Given the description of an element on the screen output the (x, y) to click on. 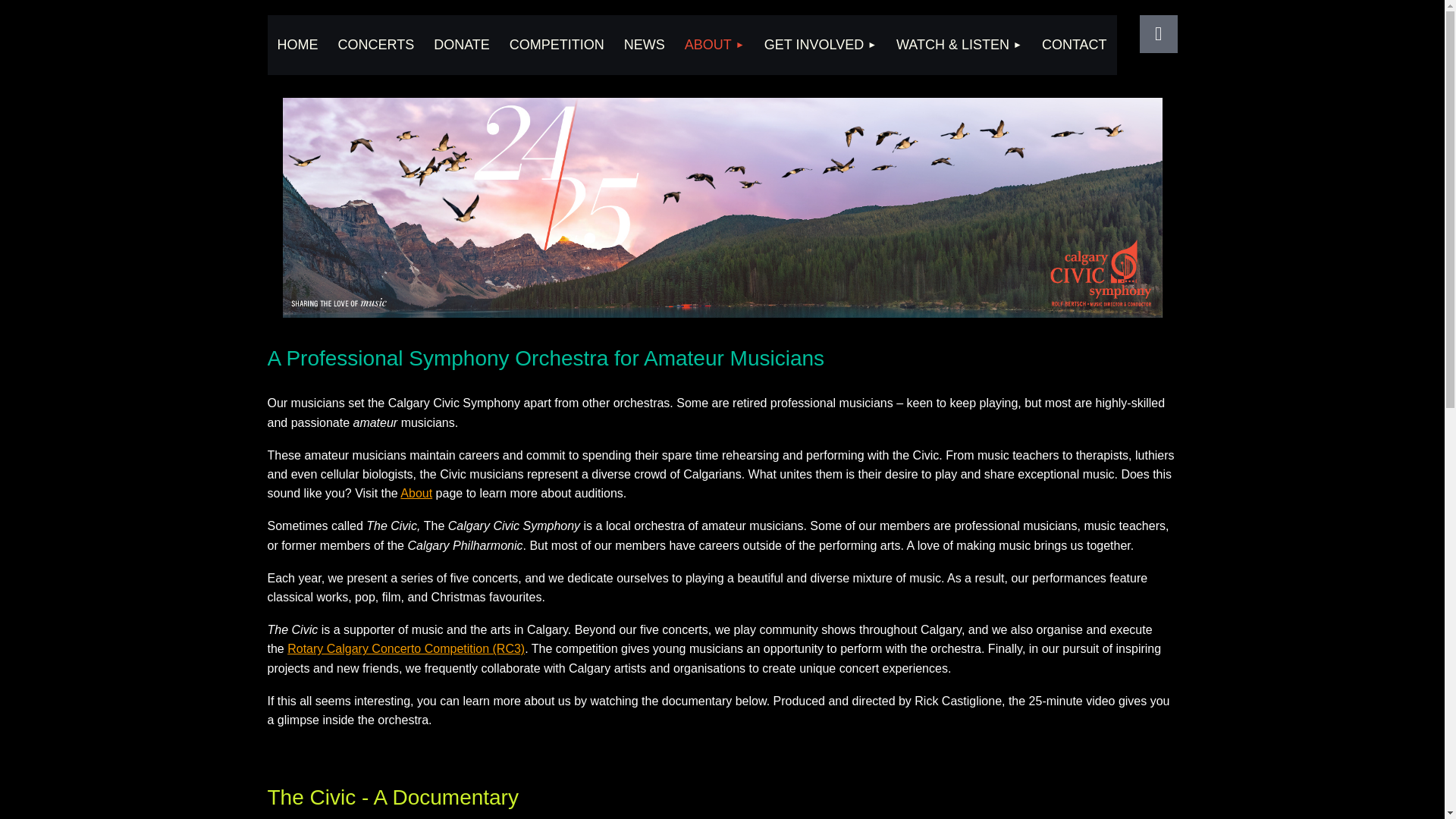
DONATE (461, 45)
HOME (296, 45)
COMPETITION (556, 45)
ABOUT (714, 45)
CONCERTS (375, 45)
NEWS (644, 45)
GET INVOLVED (820, 45)
